Given the description of an element on the screen output the (x, y) to click on. 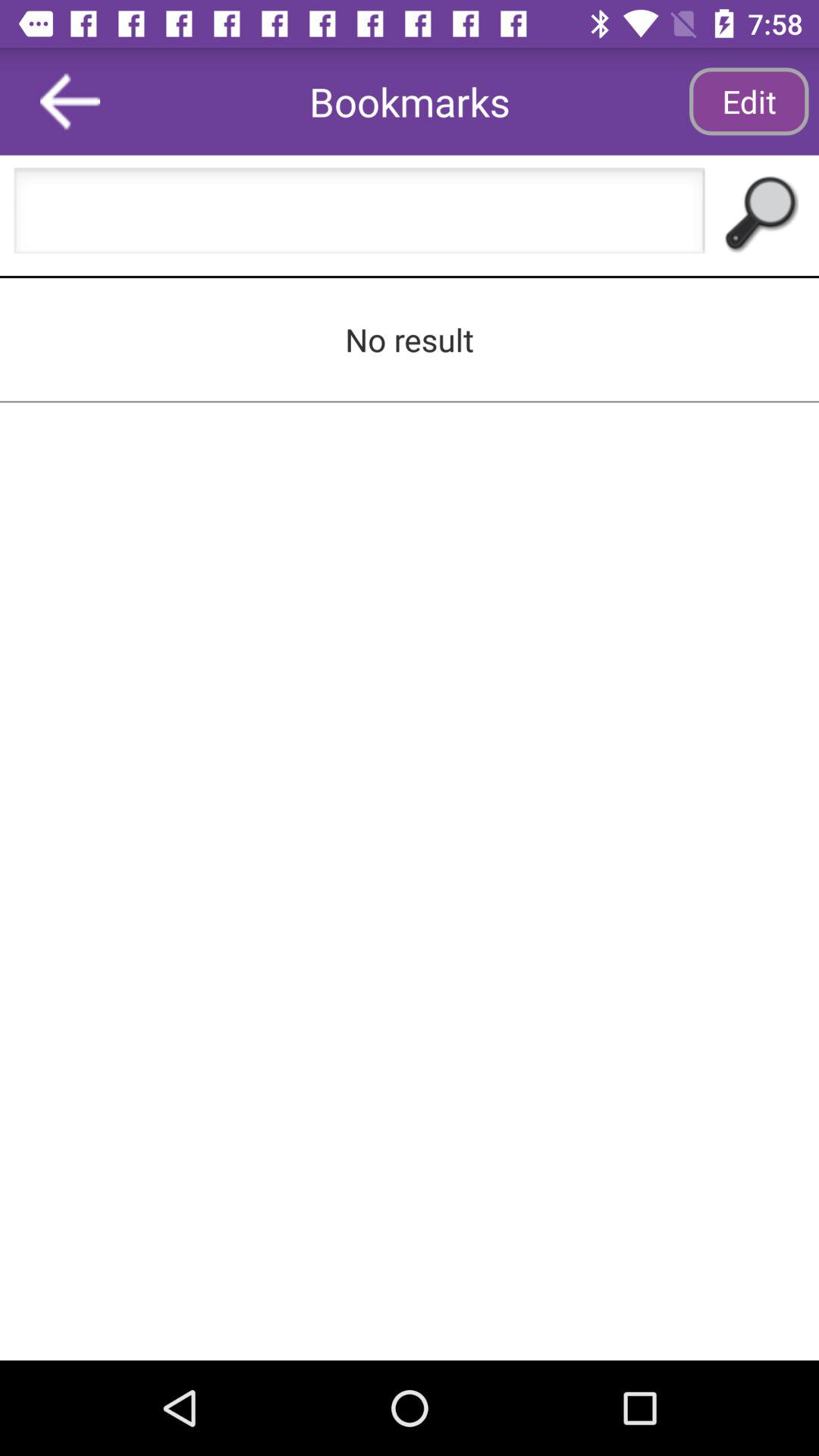
choose the icon below the edit (758, 215)
